Given the description of an element on the screen output the (x, y) to click on. 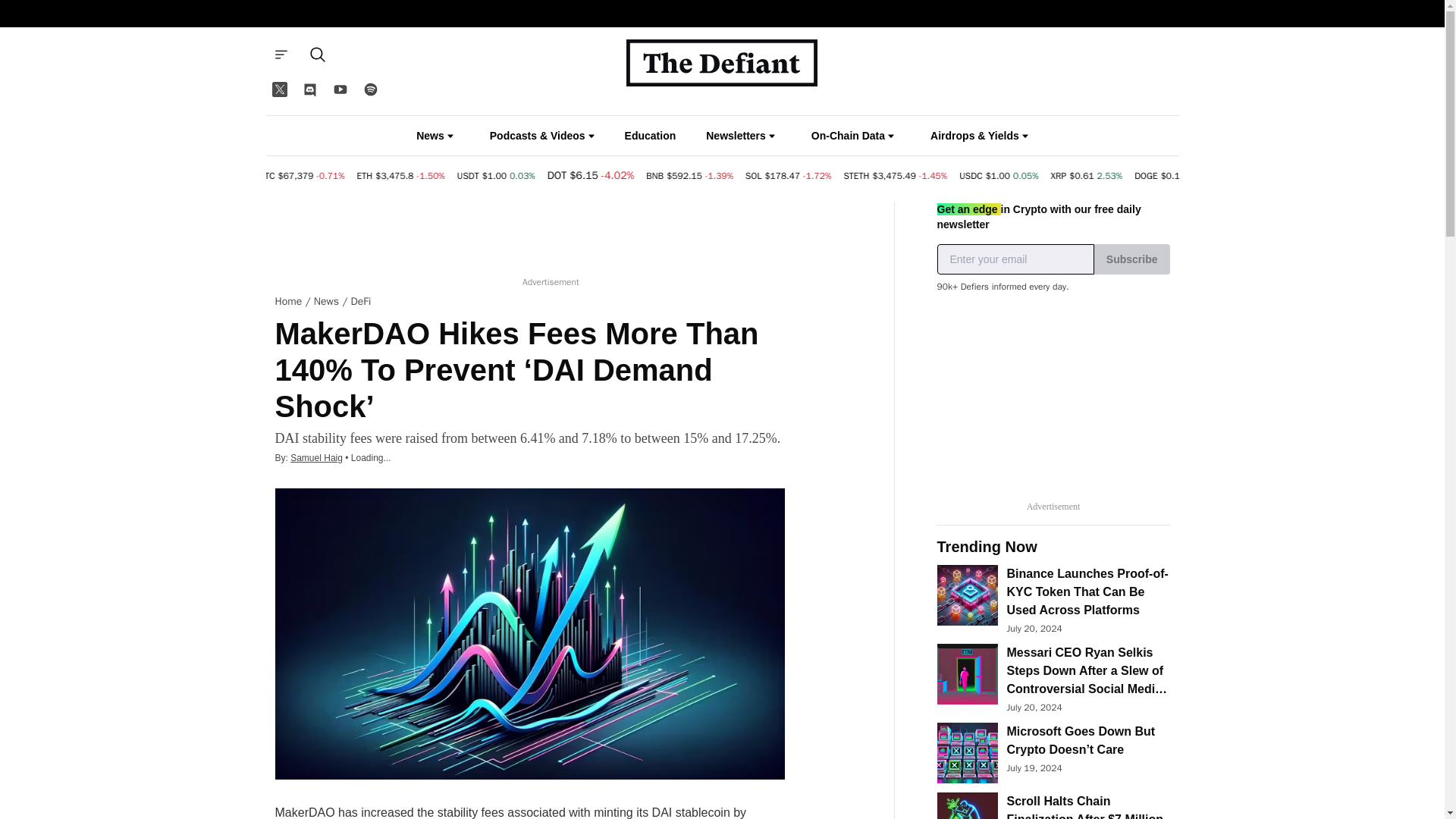
YouTube (339, 89)
Education (650, 135)
Twitter (278, 89)
Newsletters (740, 135)
Discord (309, 89)
Hamburguer button (279, 54)
On-Chain Data (851, 135)
Spotify (370, 89)
News (434, 135)
